Given the description of an element on the screen output the (x, y) to click on. 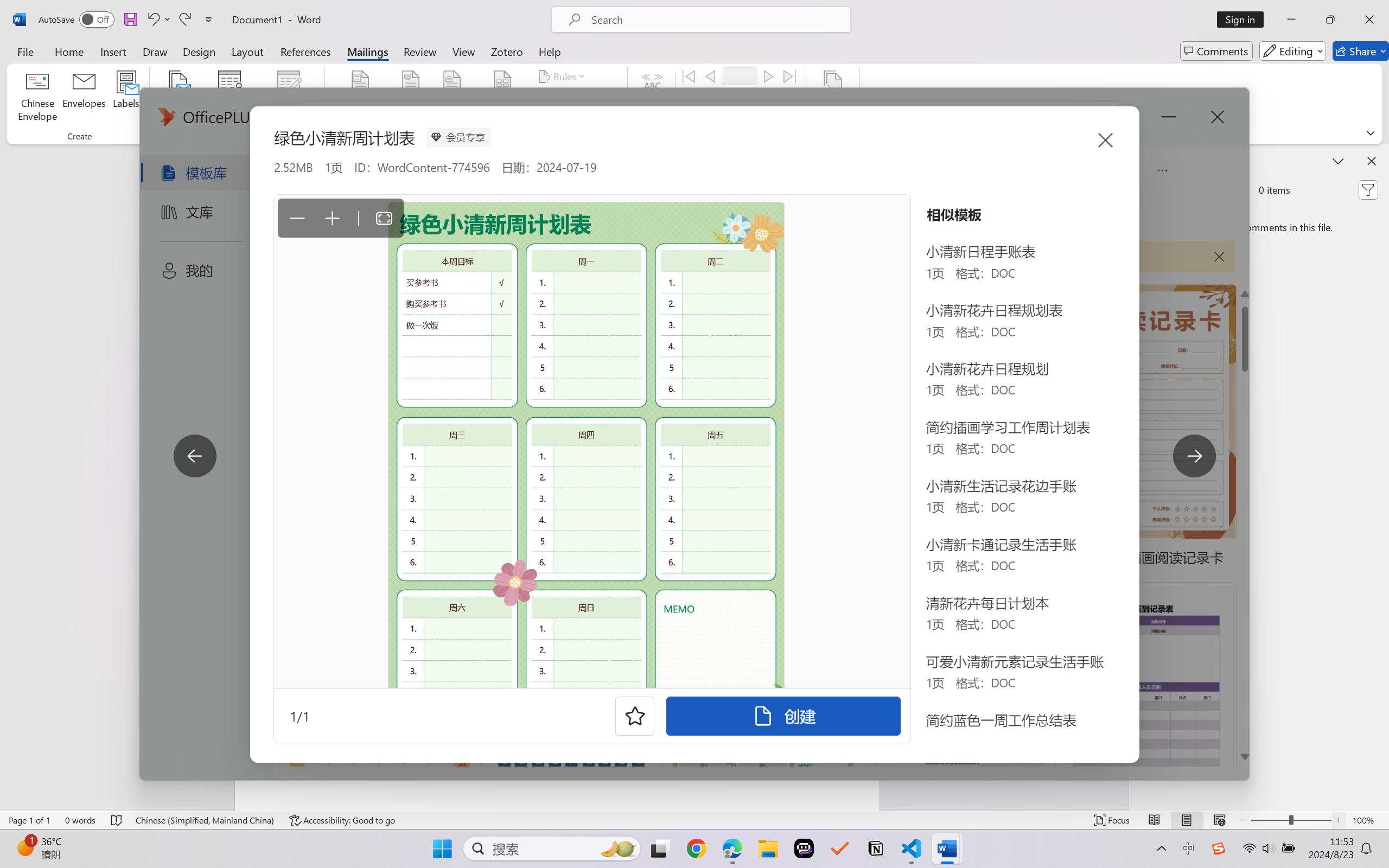
Filter (1367, 189)
Edit Recipient List... (288, 97)
Select Recipients (229, 97)
Last (790, 75)
